Given the description of an element on the screen output the (x, y) to click on. 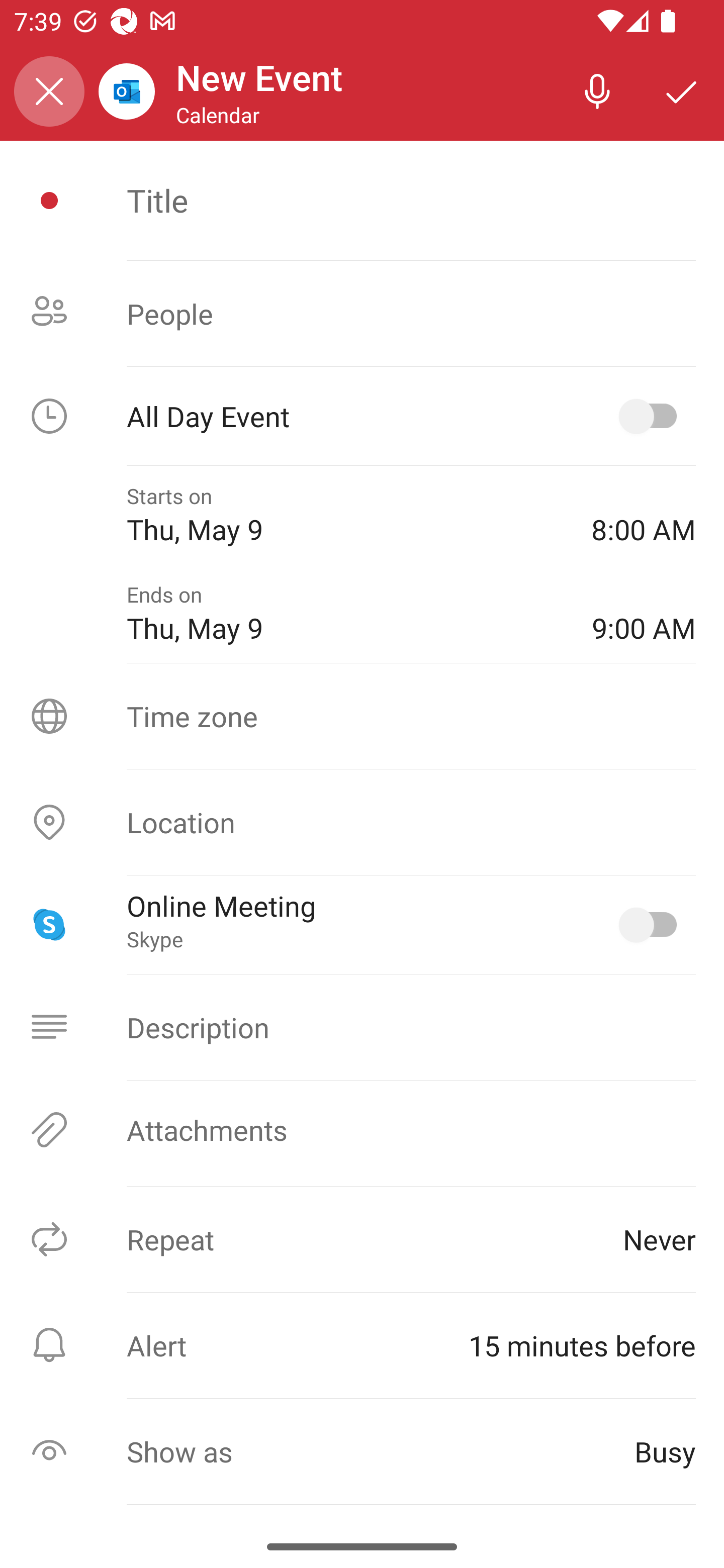
Close (49, 91)
Save (681, 90)
Title (410, 200)
Event icon picker (48, 200)
People (362, 313)
All Day Event (362, 415)
Starts on Thu, May 9 (344, 514)
8:00 AM (643, 514)
Ends on Thu, May 9 (344, 613)
9:00 AM (643, 613)
Time zone (362, 715)
Location (362, 821)
Online Meeting, Skype selected (651, 923)
Description (362, 1026)
Attachments (362, 1129)
Repeat Never (362, 1239)
Alert ⁨15 minutes before (362, 1345)
Show as Busy (362, 1450)
